Given the description of an element on the screen output the (x, y) to click on. 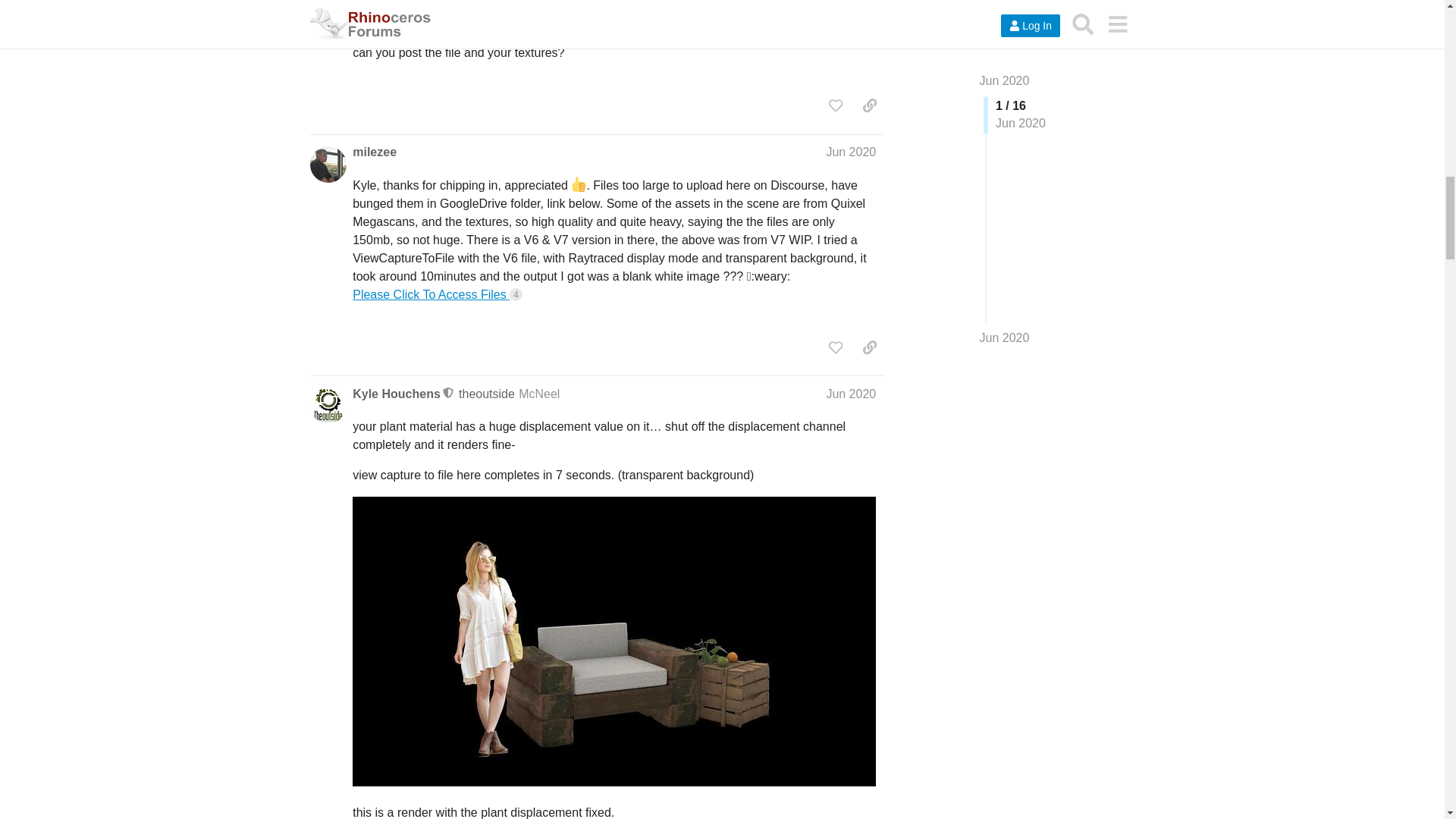
Jun 2020 (850, 19)
theoutside (486, 19)
Kyle Houchens (396, 20)
